Given the description of an element on the screen output the (x, y) to click on. 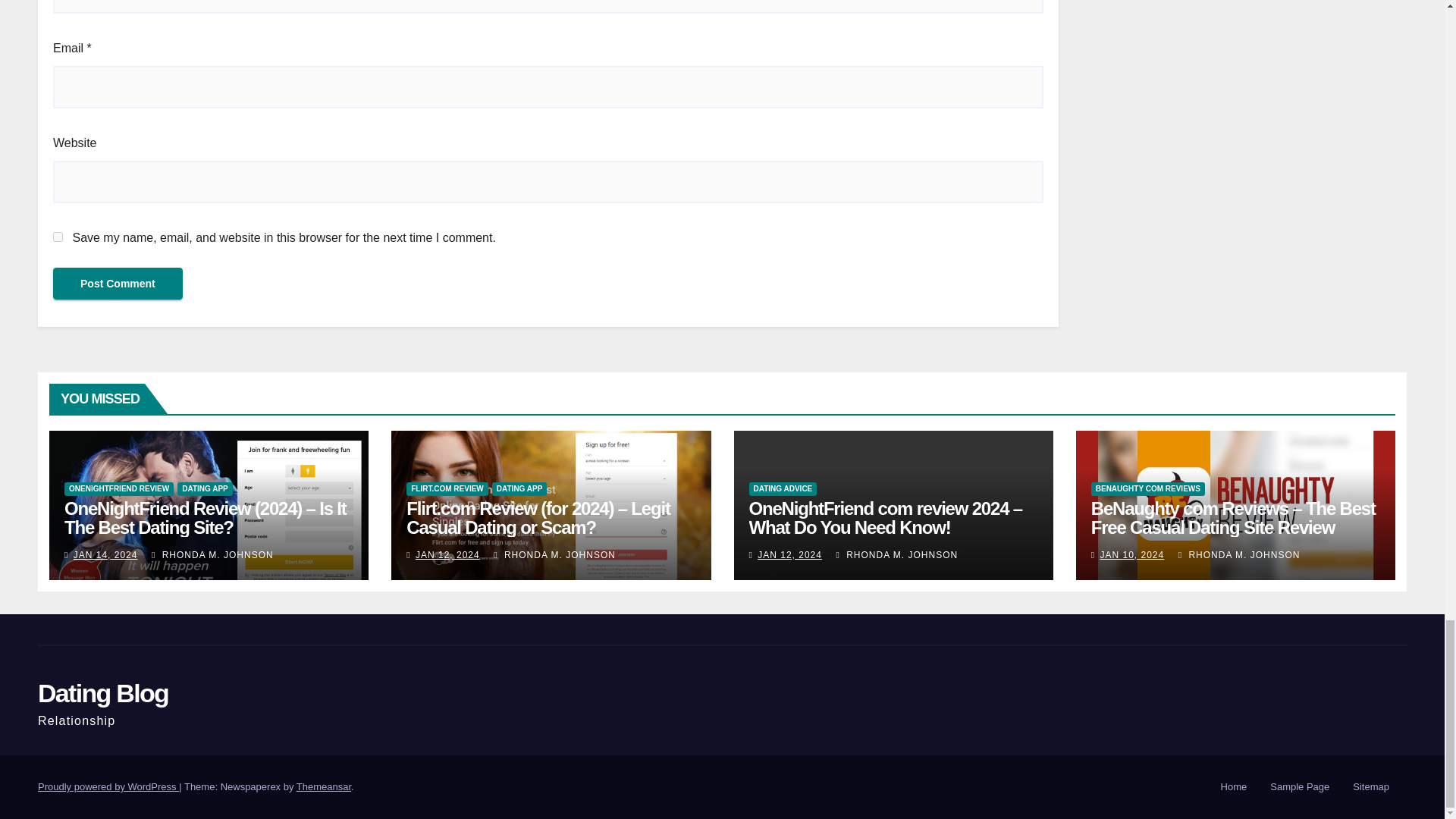
yes (57, 236)
Post Comment (117, 283)
